Given the description of an element on the screen output the (x, y) to click on. 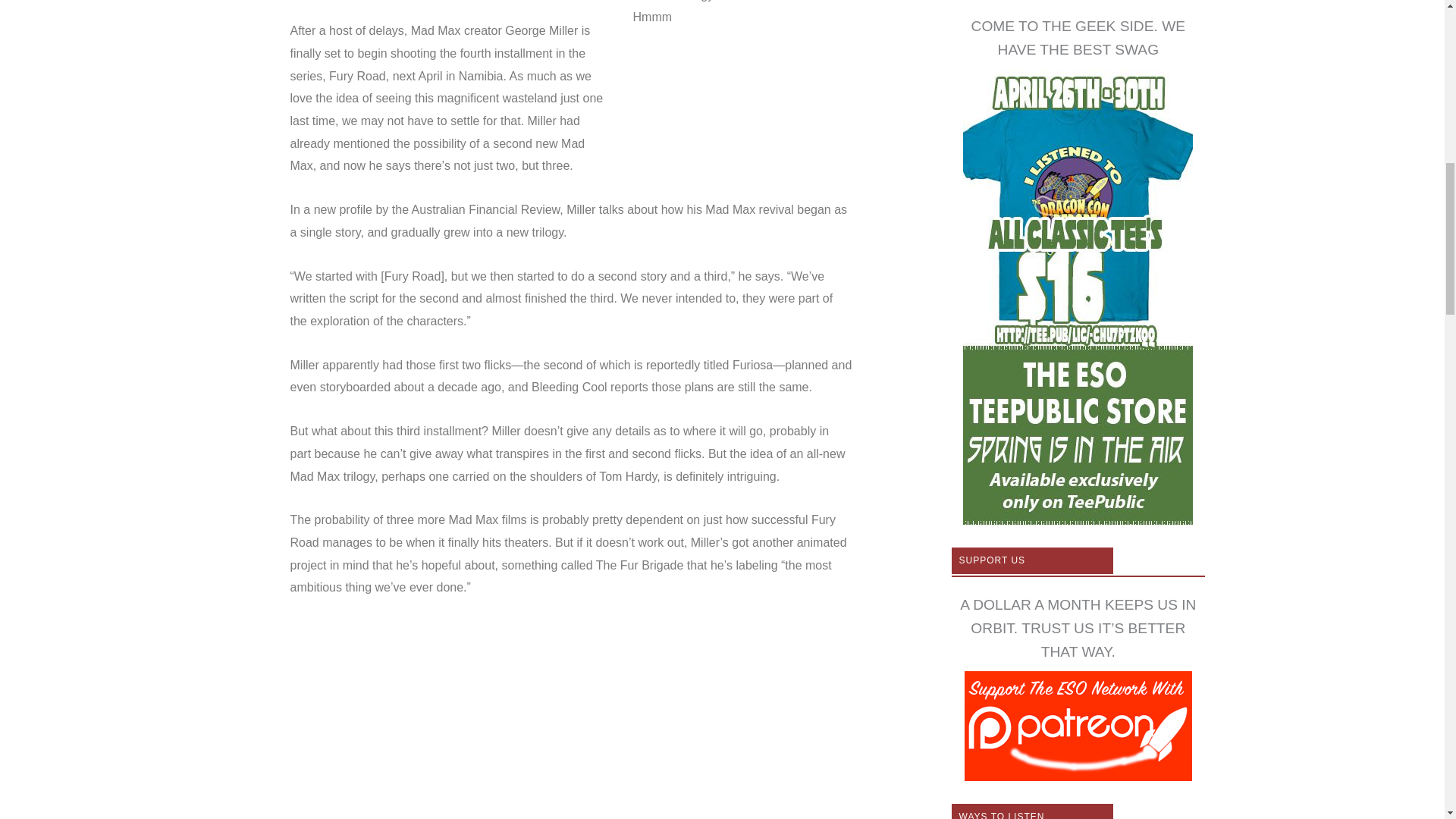
madmax2list (739, 67)
